Given the description of an element on the screen output the (x, y) to click on. 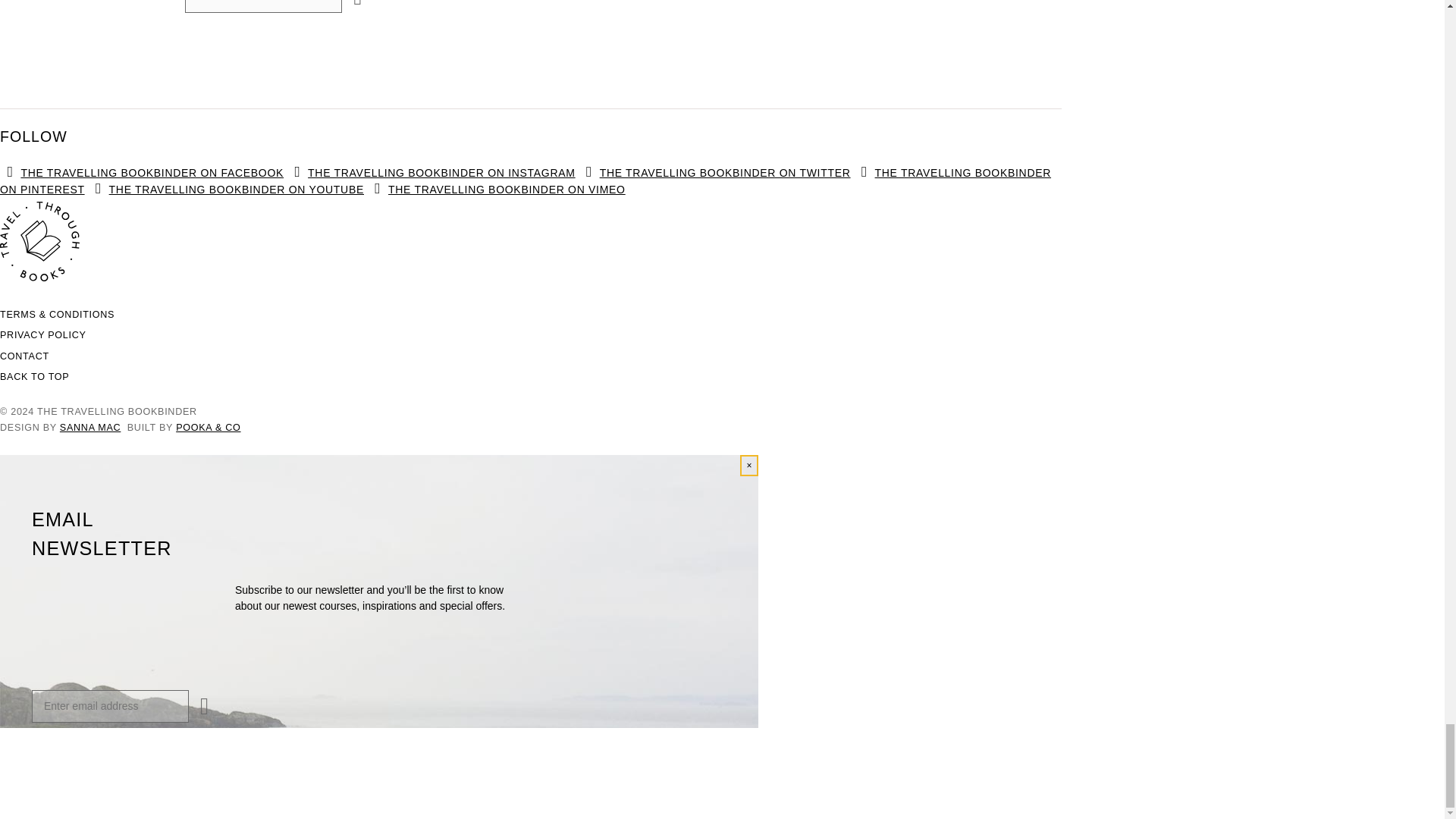
Subscribe (352, 3)
The Travelling Bookbinder on Facebook (141, 173)
Subscribe (199, 705)
The Travelling Bookbinder on Instagram (430, 173)
